Given the description of an element on the screen output the (x, y) to click on. 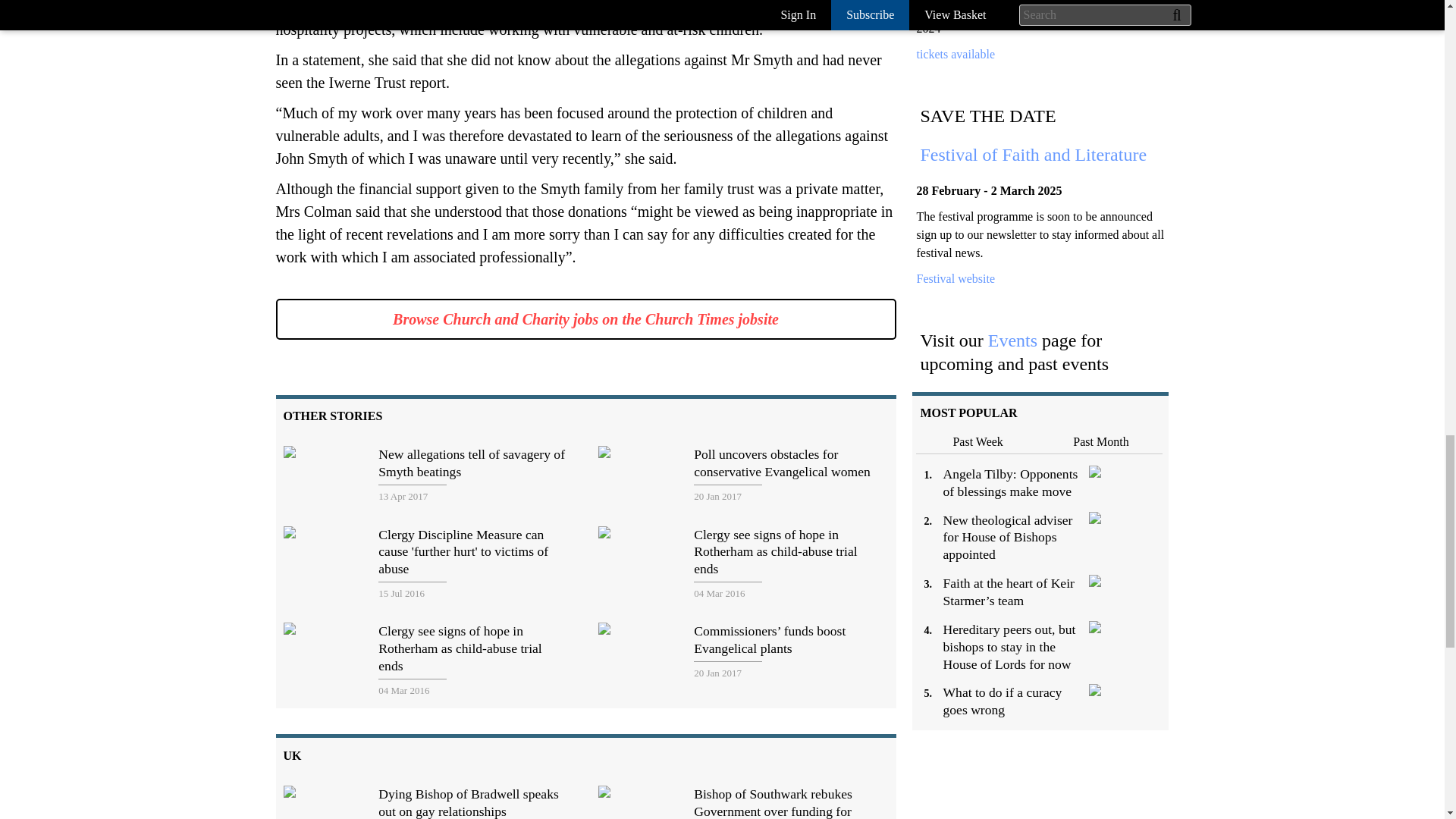
Inspiration: The Influences That Have Shaped My Life (954, 53)
